Given the description of an element on the screen output the (x, y) to click on. 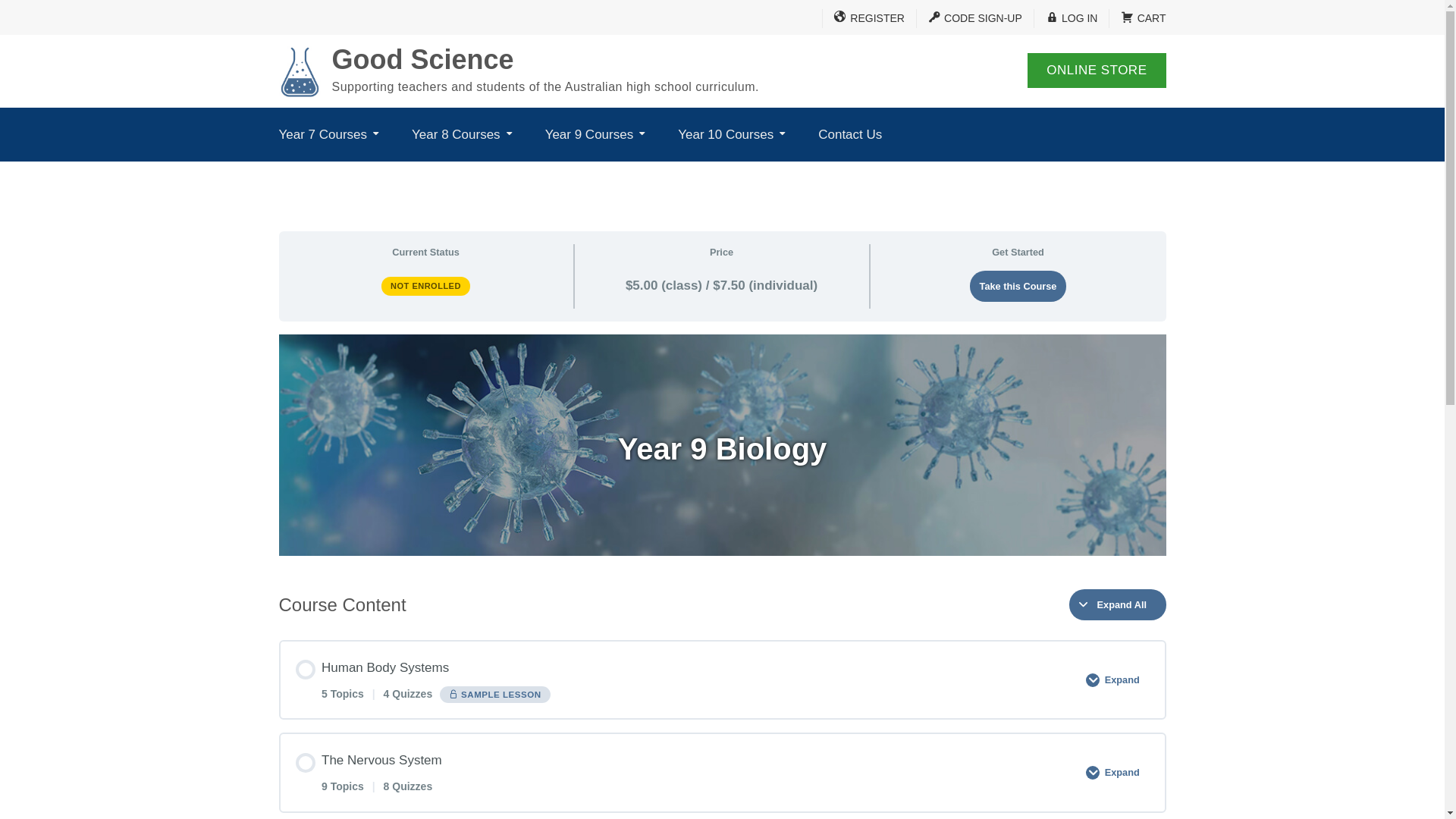
Chemistry Element type: text (613, 173)
CART Element type: text (1136, 18)
Introduction to Science Element type: text (363, 173)
Online Workbook Element type: text (917, 173)
Human Body Systems
5 Topics | 4 Quizzes SAMPLE LESSON Element type: text (685, 679)
Chemistry Element type: text (746, 173)
Year 9 Courses Element type: text (595, 134)
Physics Element type: text (613, 173)
CODE SIGN-UP Element type: text (969, 18)
Good Science Element type: text (423, 59)
Chemistry Element type: text (480, 173)
Year 10 Courses Element type: text (730, 134)
Biology Element type: text (480, 173)
Year 7 Courses Element type: text (329, 134)
Earth & Space Element type: text (363, 173)
Physics Element type: text (746, 173)
Year 8 Courses Element type: text (461, 134)
Contact Us Element type: text (849, 134)
ONLINE STORE Element type: text (1096, 70)
LOG IN Element type: text (1065, 18)
Online Course Element type: text (917, 173)
REGISTER Element type: text (863, 18)
The Nervous System
9 Topics | 8 Quizzes Element type: text (685, 772)
Take this Course Element type: text (1017, 285)
